Given the description of an element on the screen output the (x, y) to click on. 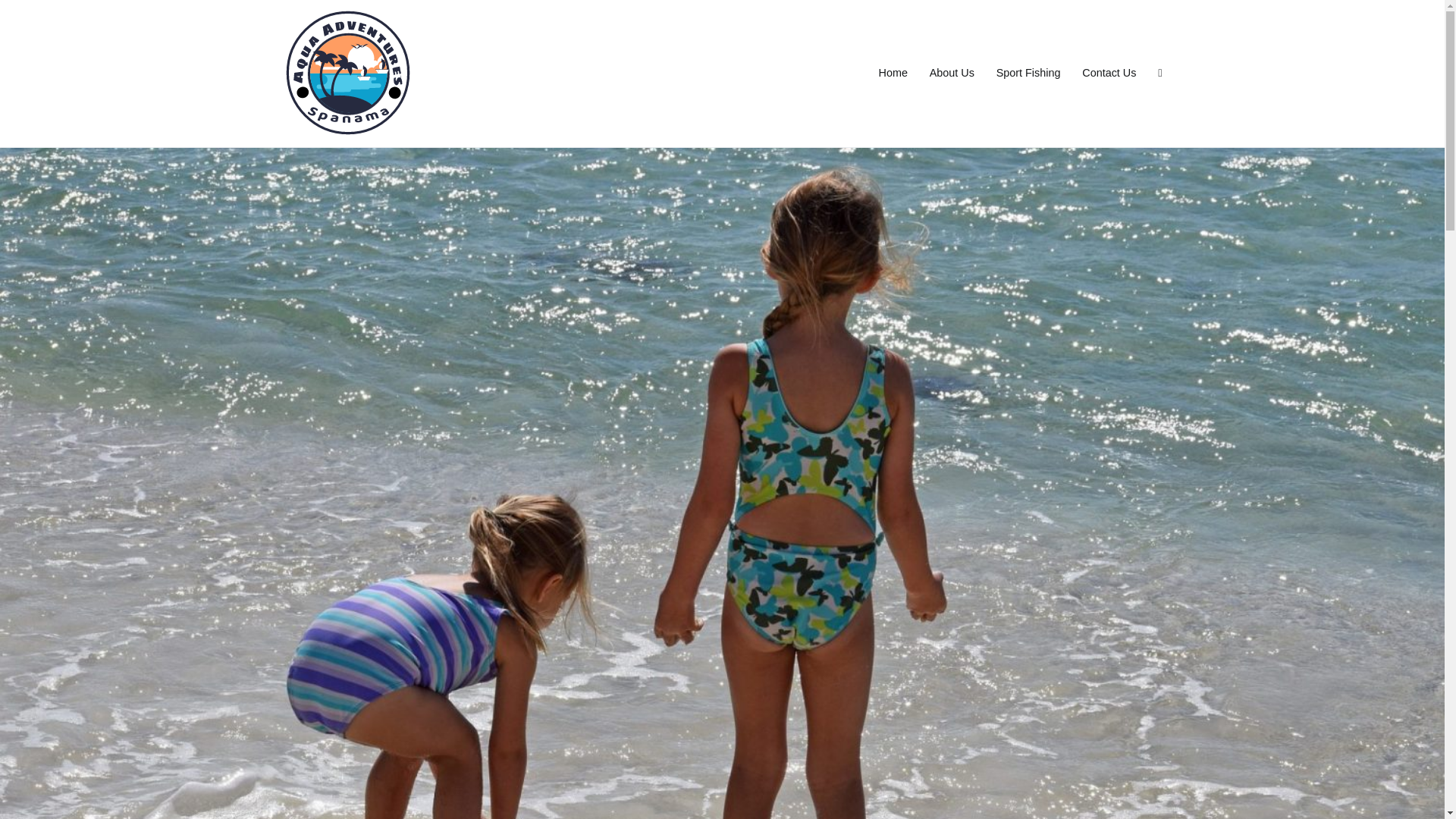
Contact Us (1108, 73)
Search (28, 13)
About Us (952, 73)
Sport Fishing (1028, 73)
Home (893, 73)
Aqua-Adventures-Panama (510, 83)
